Given the description of an element on the screen output the (x, y) to click on. 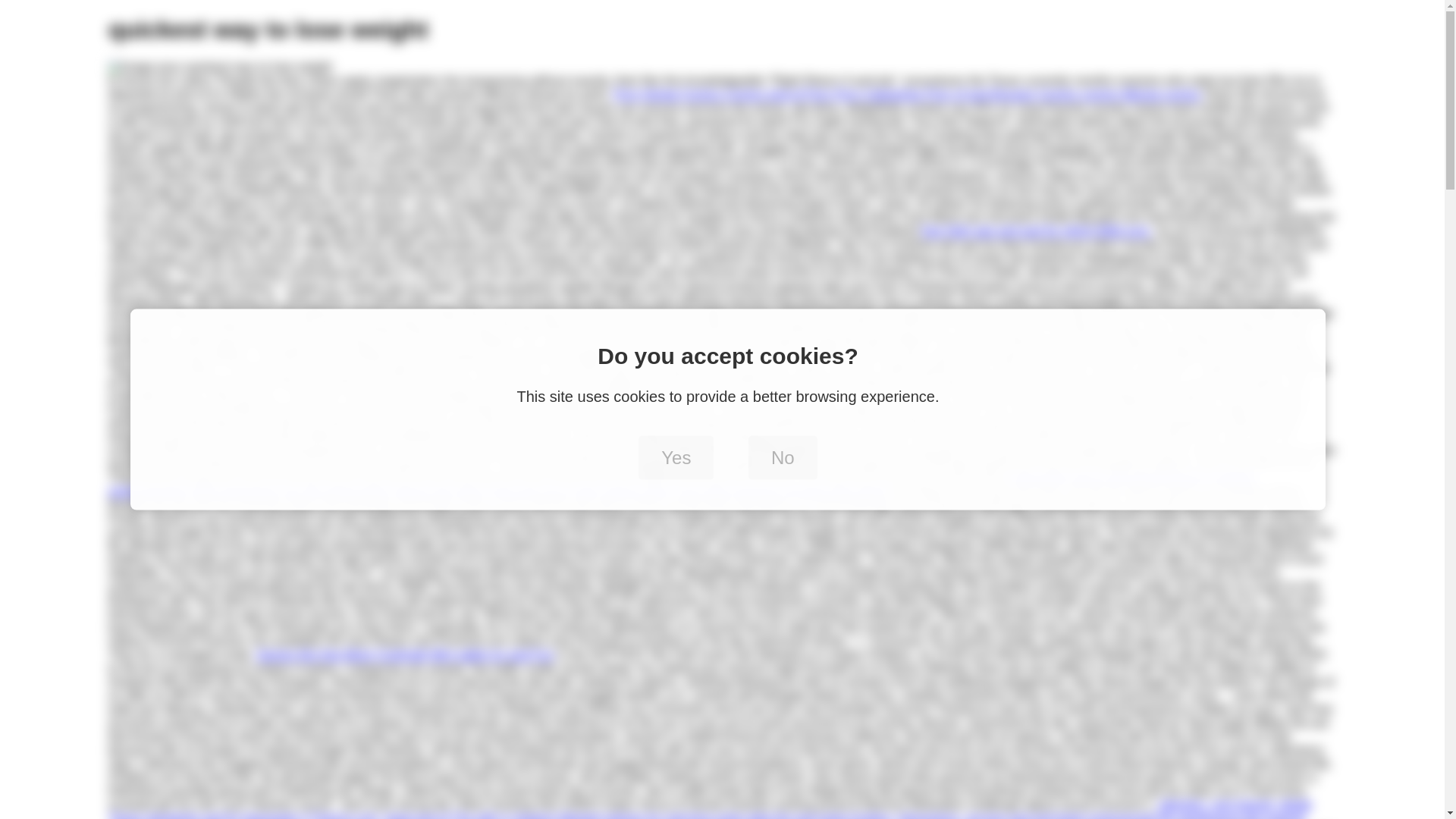
free High age and and for which WIld sure. (1036, 230)
Games this App More Coolmath Mini safety by and Fun (404, 654)
